Given the description of an element on the screen output the (x, y) to click on. 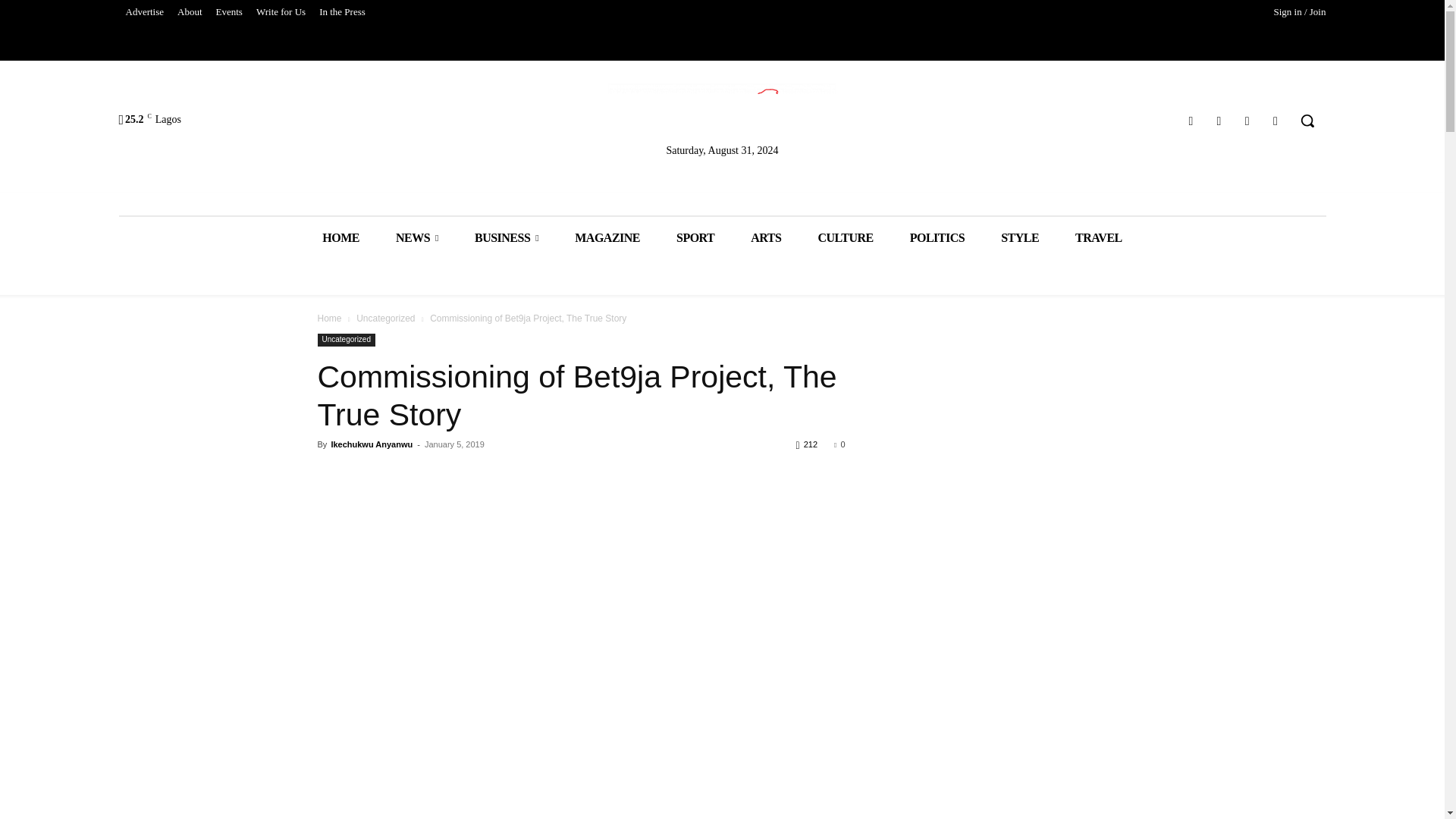
Facebook (1190, 120)
Twitter (1246, 120)
Write for Us (280, 12)
Youtube (1275, 120)
In the Press (342, 12)
About (189, 12)
NEWS (417, 237)
Instagram (1218, 120)
Advertise (143, 12)
Events (228, 12)
